Given the description of an element on the screen output the (x, y) to click on. 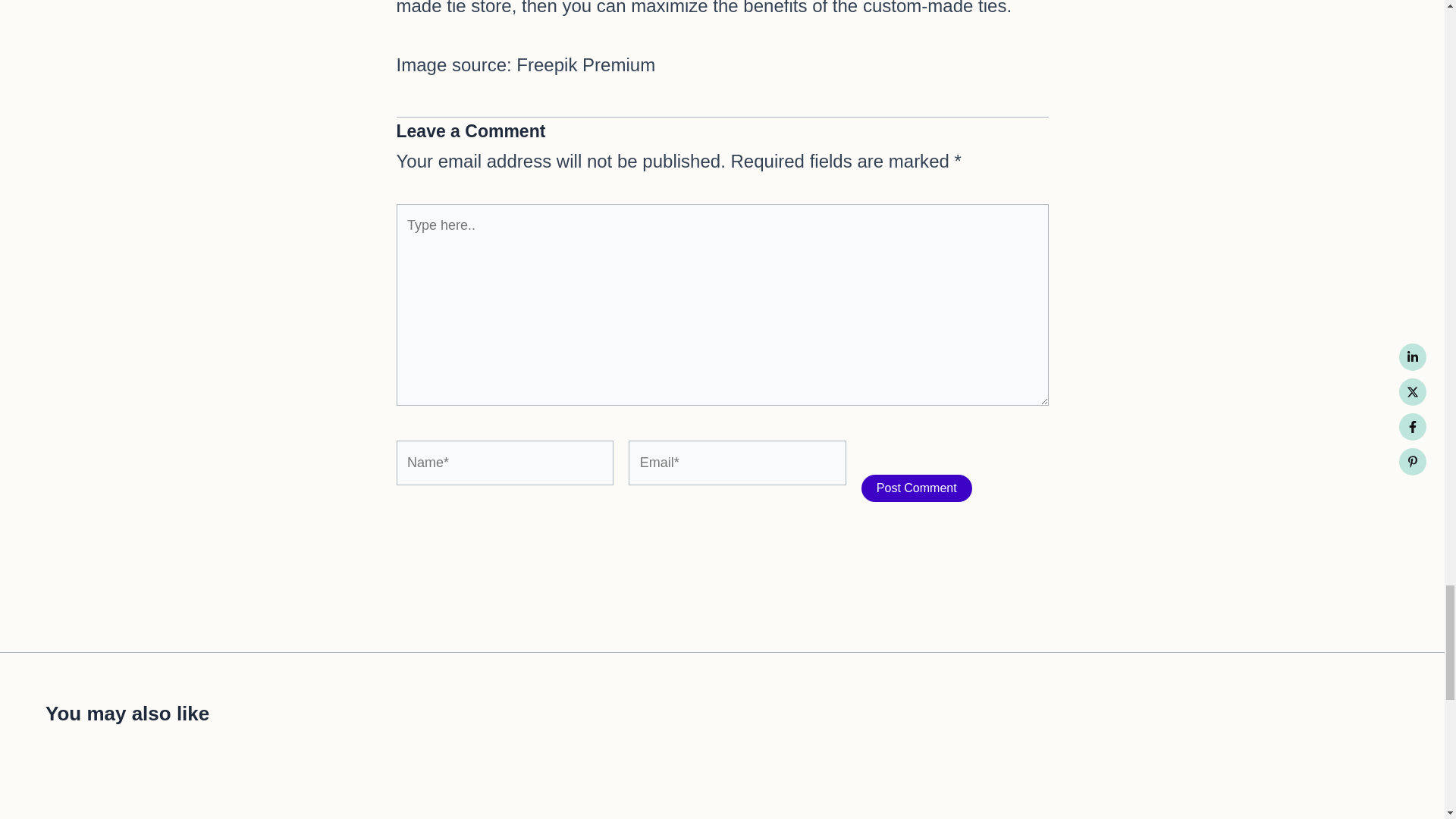
Post Comment (916, 488)
SMS for Nonprofits: A Guide 4 (550, 792)
Tools that make life easy for a digital marketer 6 (1235, 792)
How to Turn Your CTA Buttons into Conversion Monster? 3 (207, 792)
Post Comment (916, 488)
